Given the description of an element on the screen output the (x, y) to click on. 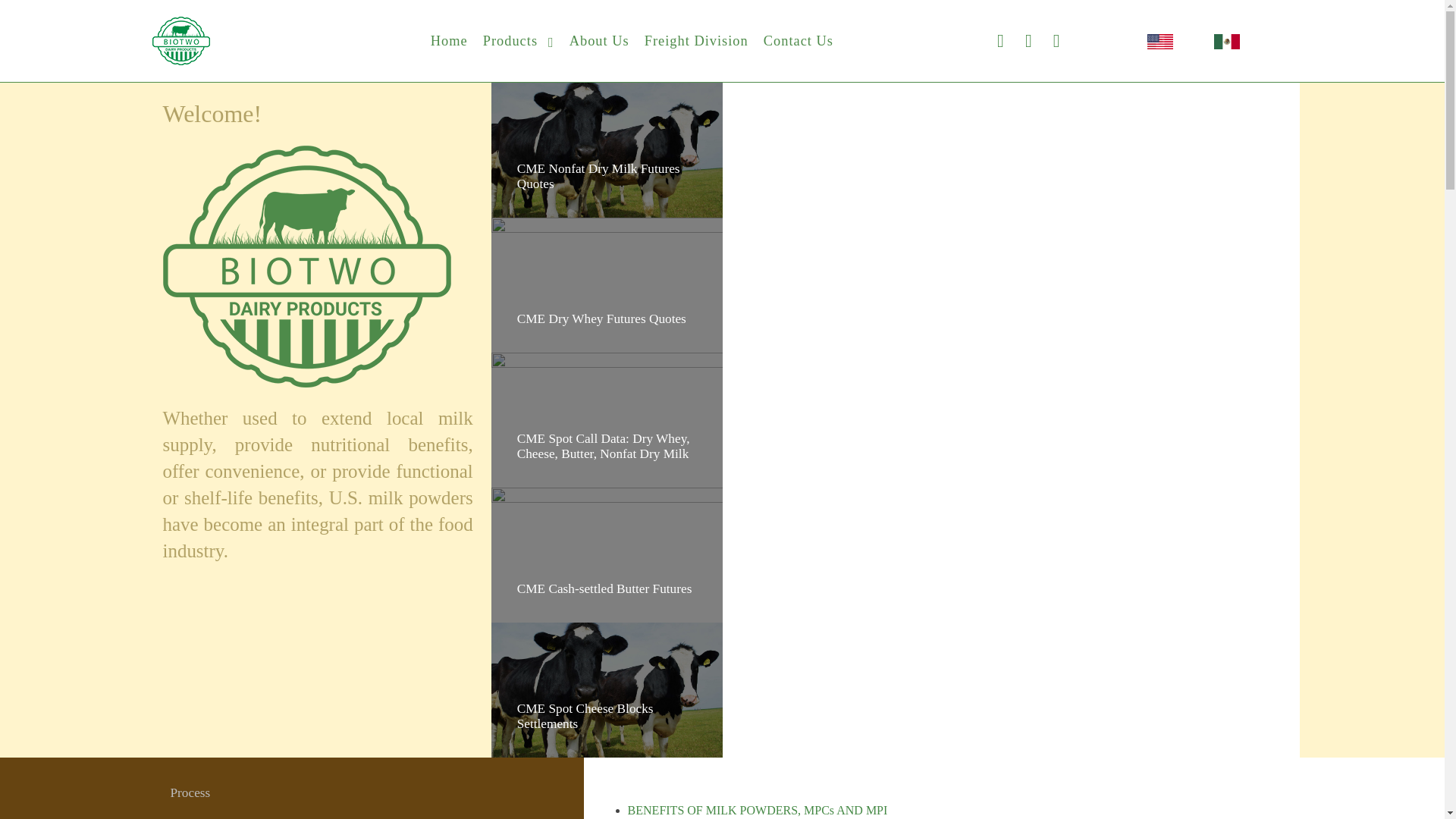
Contact Us (798, 40)
About Us (598, 40)
 Home (447, 40)
BENEFITS OF MILK POWDERS, MPCs AND MPI (757, 809)
Freight Division (696, 40)
